Given the description of an element on the screen output the (x, y) to click on. 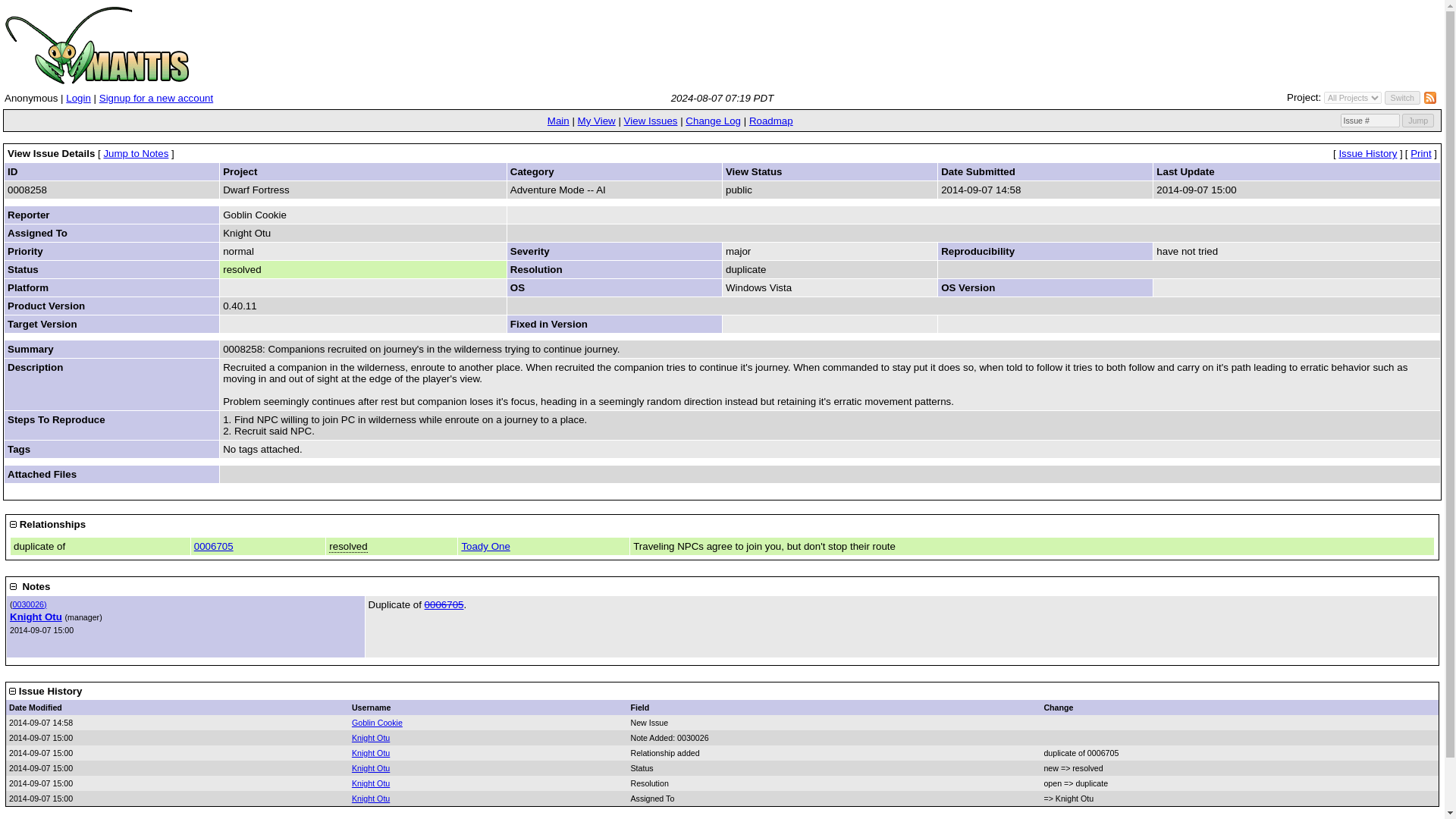
0006705 (444, 604)
Login (77, 98)
Attached Files (42, 473)
Toady One (485, 546)
Jump to Notes (135, 153)
Knight Otu (36, 616)
Print (1420, 153)
Main (558, 120)
Jump (1418, 120)
Signup for a new account (155, 98)
